Given the description of an element on the screen output the (x, y) to click on. 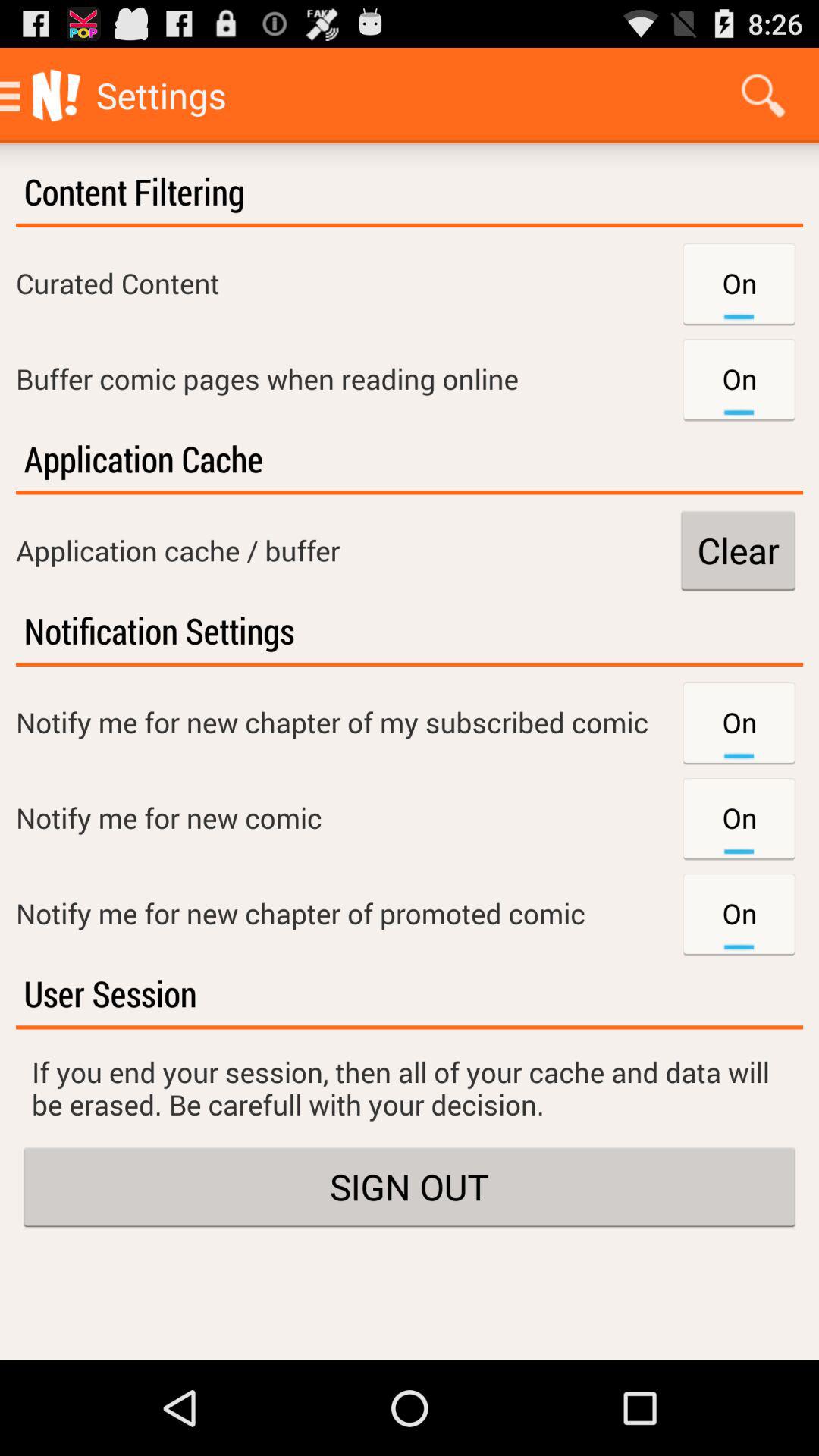
open app to the right of the settings item (763, 95)
